Given the description of an element on the screen output the (x, y) to click on. 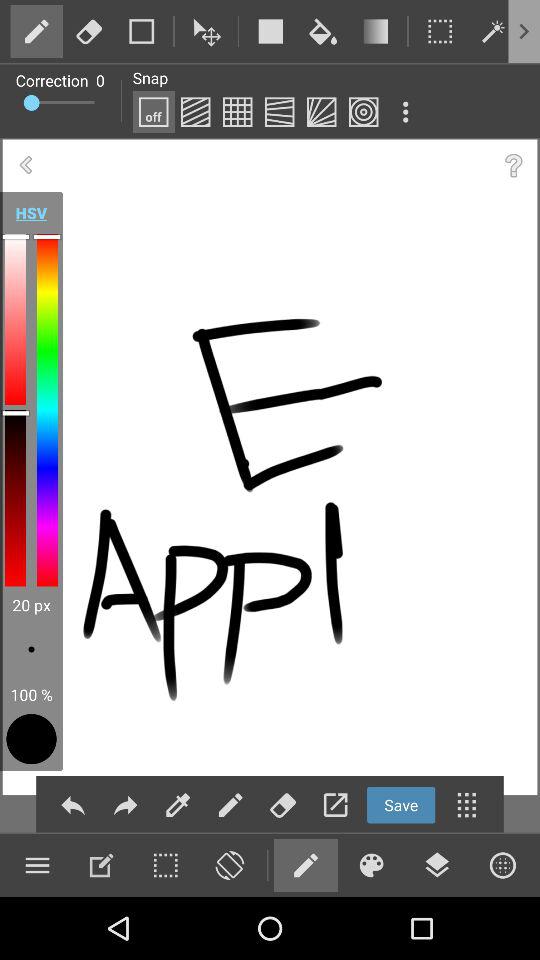
go back (26, 165)
